Given the description of an element on the screen output the (x, y) to click on. 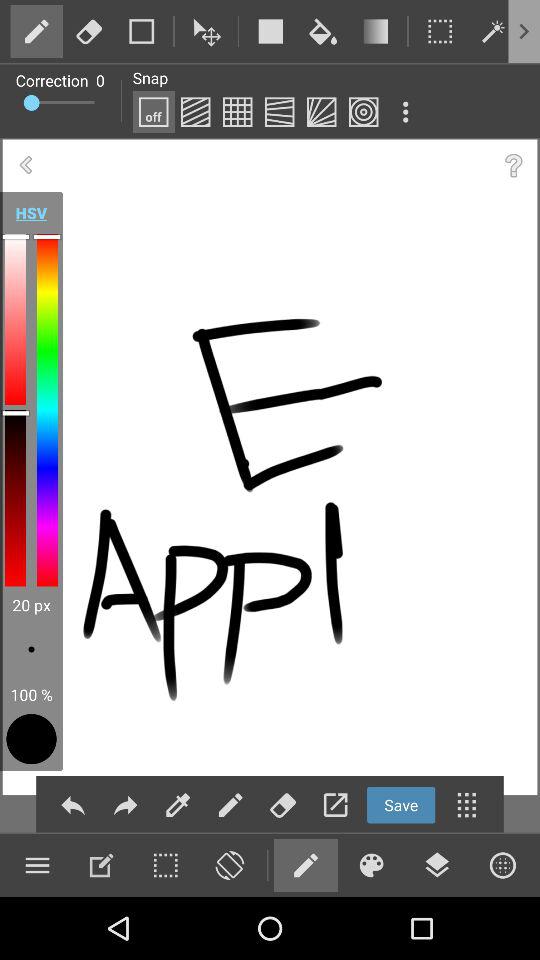
go back (26, 165)
